Given the description of an element on the screen output the (x, y) to click on. 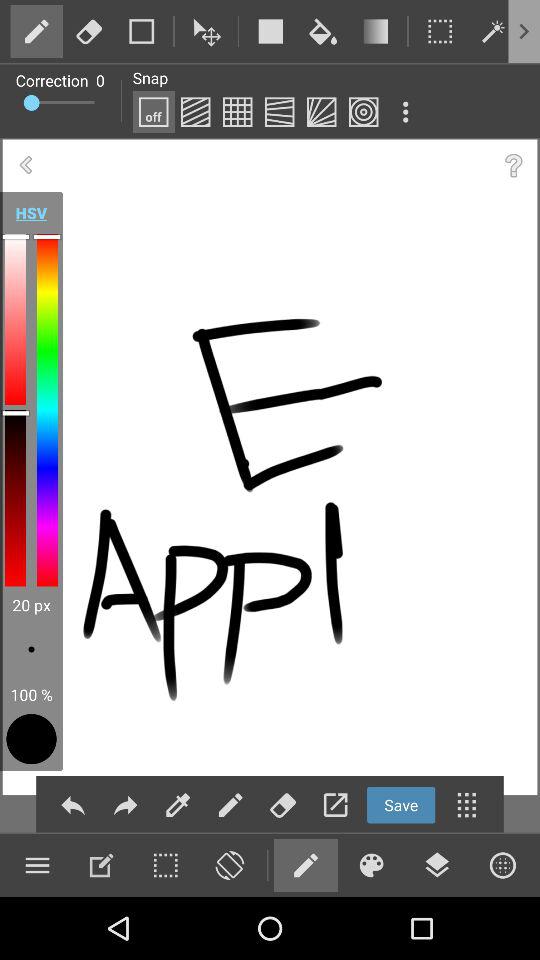
go back (26, 165)
